Given the description of an element on the screen output the (x, y) to click on. 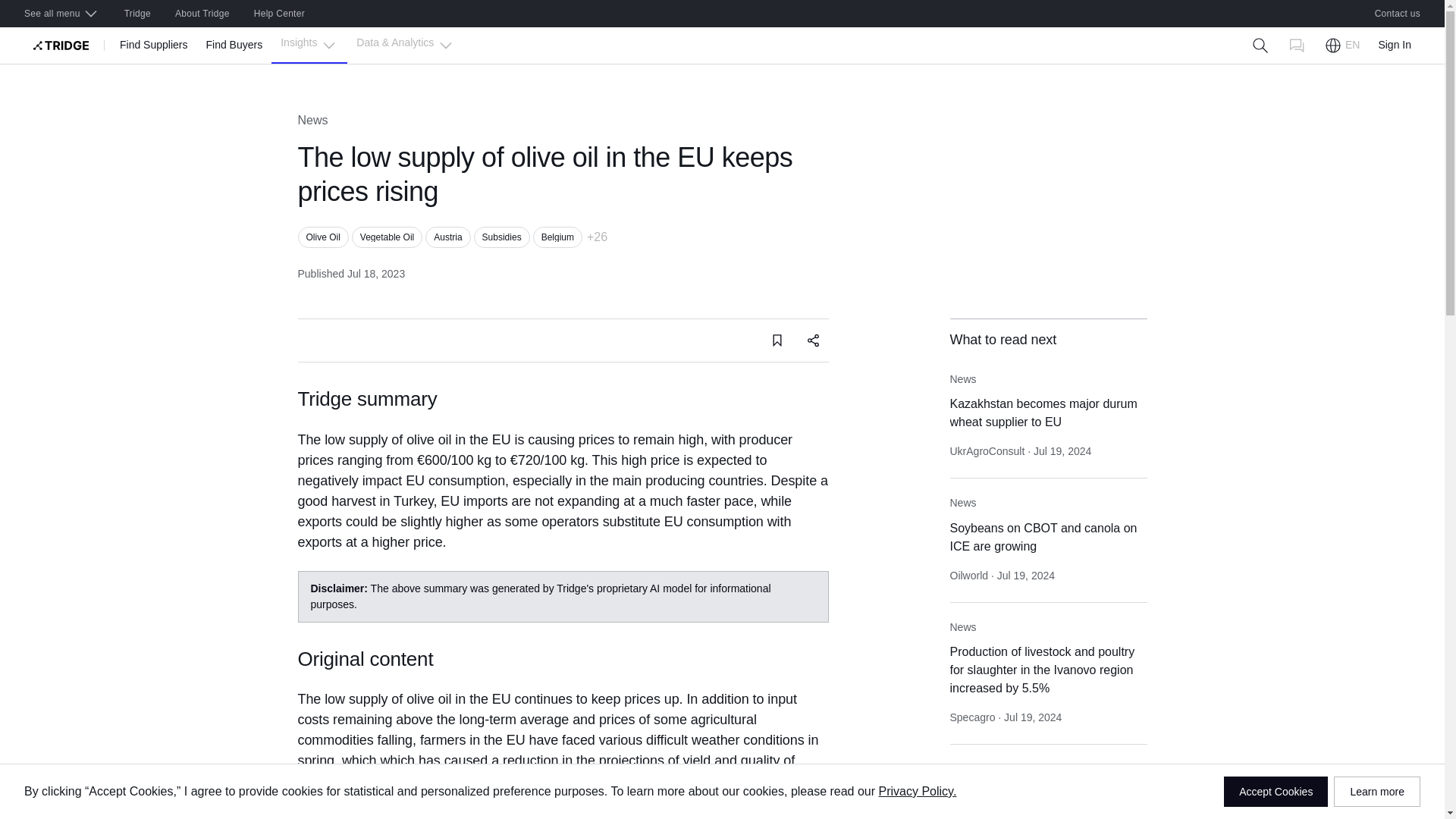
Help Center (279, 13)
About Tridge (202, 13)
See all menu (61, 13)
Tridge (137, 13)
Contact us (1397, 13)
